Given the description of an element on the screen output the (x, y) to click on. 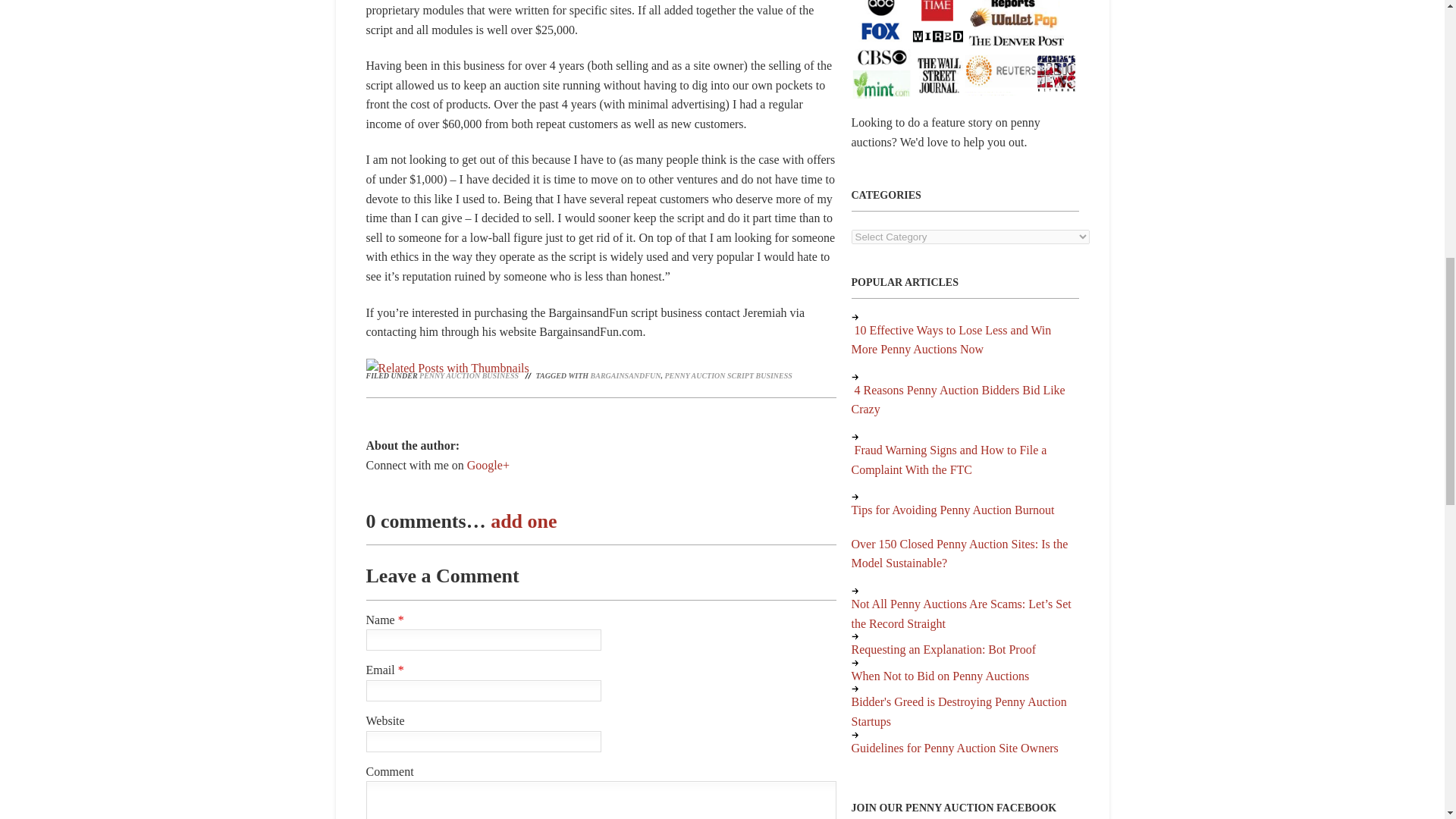
4 Reasons Penny Auction Bidders Bid Like Crazy (957, 400)
Fraud Warning Signs and How to File a Complaint With the FTC (948, 459)
bulletside (853, 317)
penny auction watch seen on media (964, 49)
bulletside (853, 437)
bulletside (853, 376)
